Given the description of an element on the screen output the (x, y) to click on. 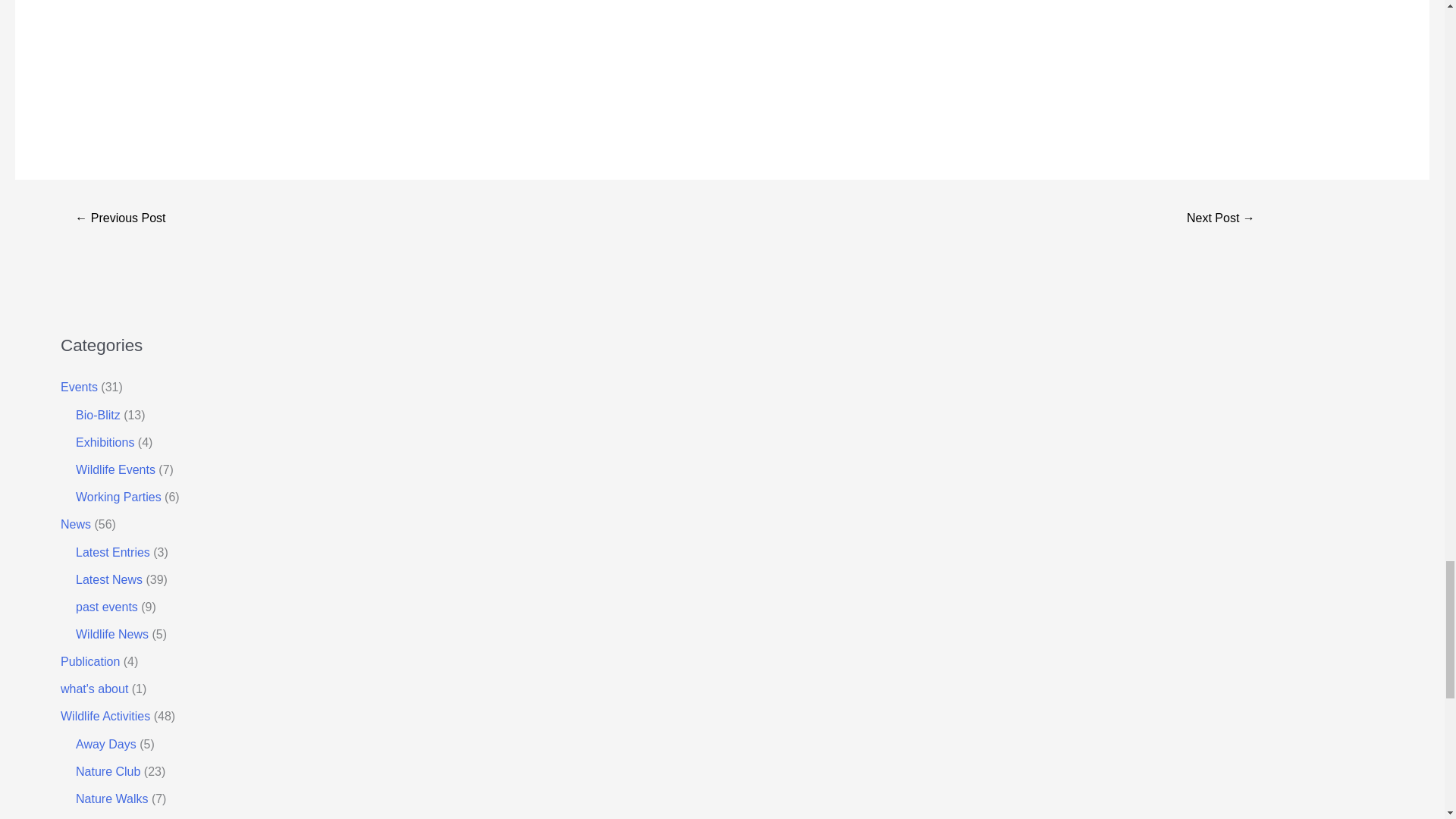
Latest News (108, 579)
Latest Entries (112, 552)
Wildlife Events (115, 469)
Bio-Blitz (97, 414)
Wildlife Activities (105, 716)
Wildlife News (111, 634)
what's about (94, 688)
past events (106, 606)
Exhibitions (104, 441)
News (75, 523)
Events (79, 386)
Nature Club (107, 771)
Blooming January (119, 219)
Away Days (105, 744)
Nature Walks (111, 798)
